Given the description of an element on the screen output the (x, y) to click on. 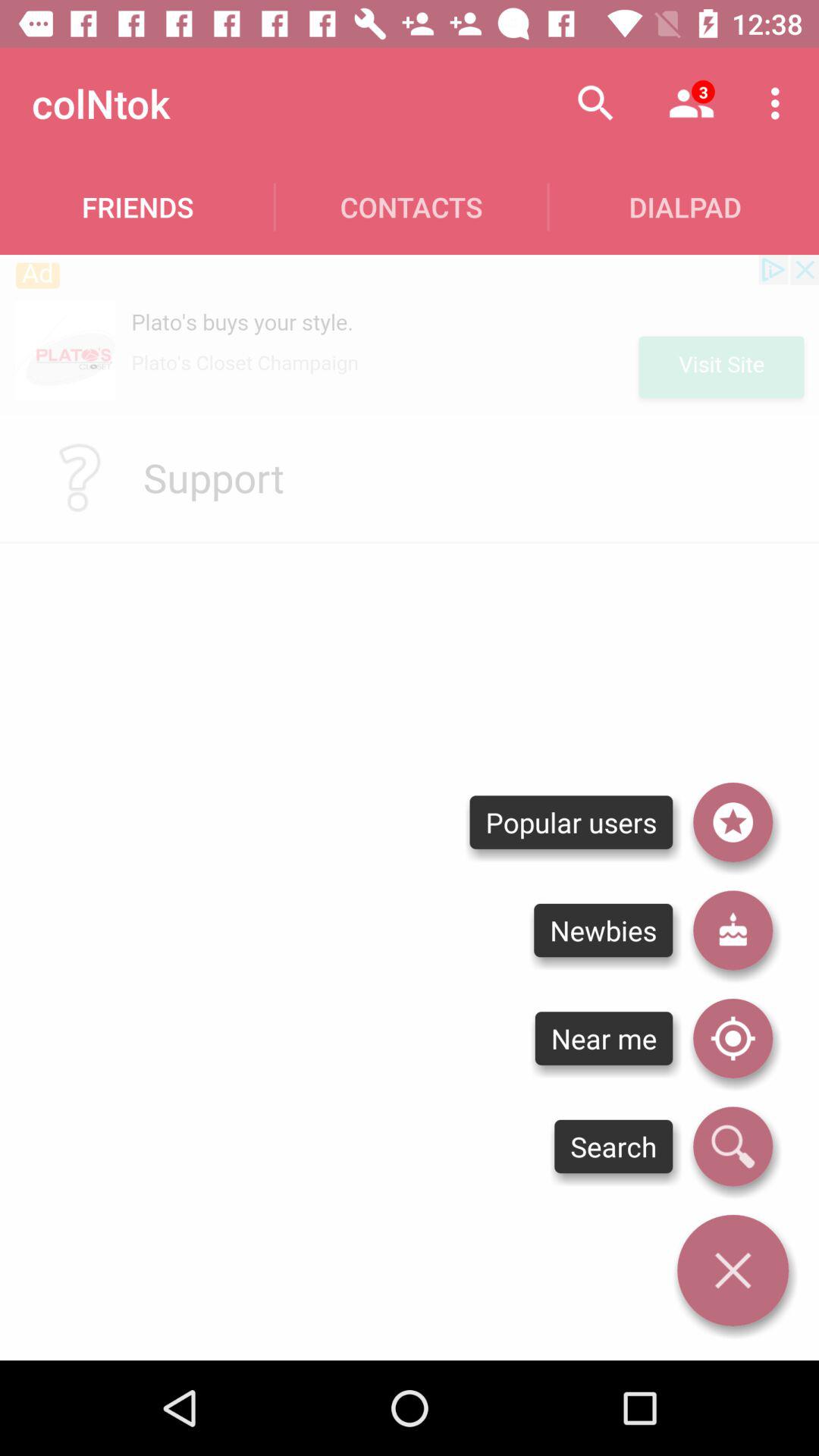
go to website (409, 334)
